Given the description of an element on the screen output the (x, y) to click on. 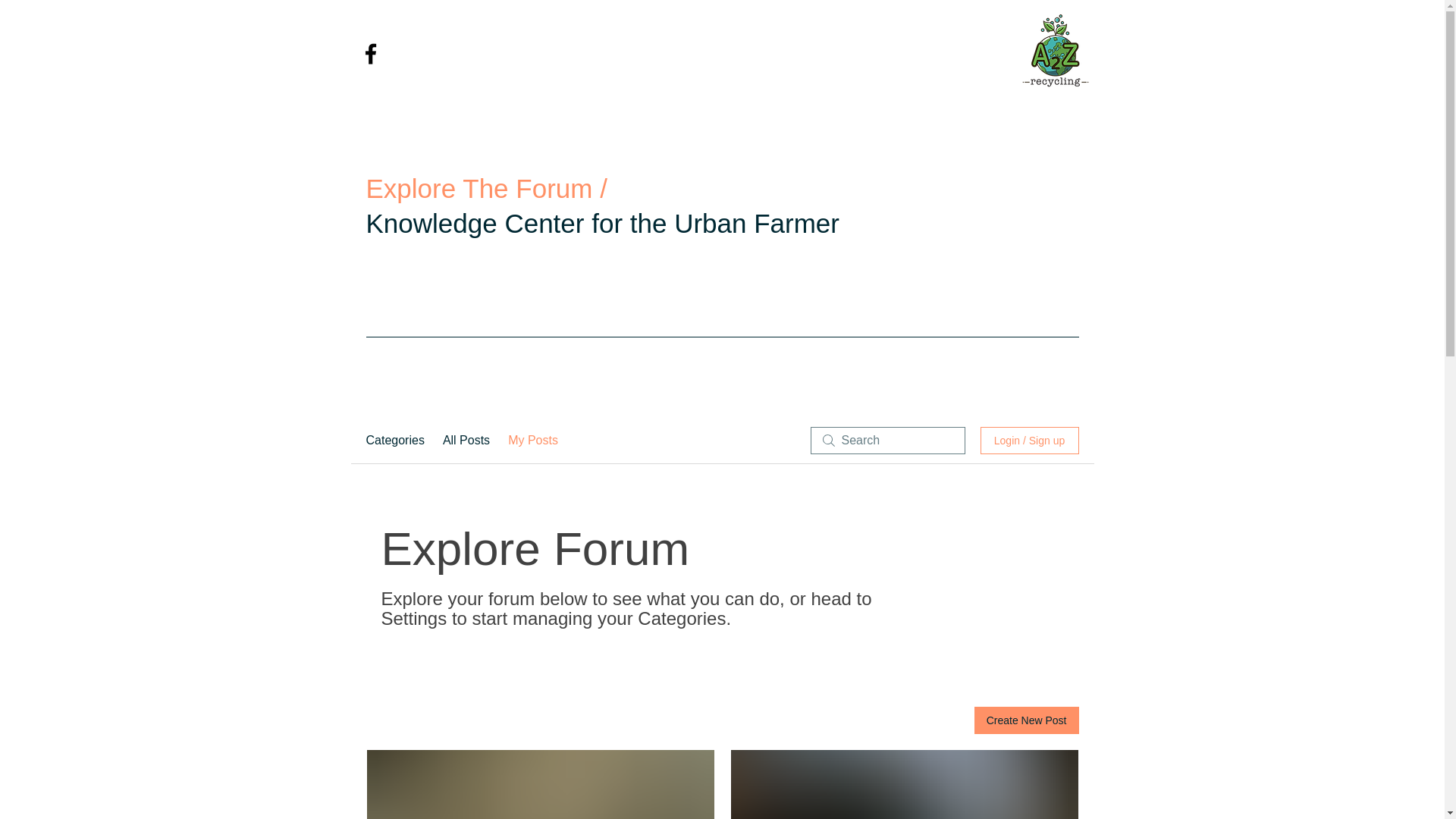
Categories (394, 440)
Create New Post (1026, 719)
All Posts (465, 440)
My Posts (532, 440)
